Given the description of an element on the screen output the (x, y) to click on. 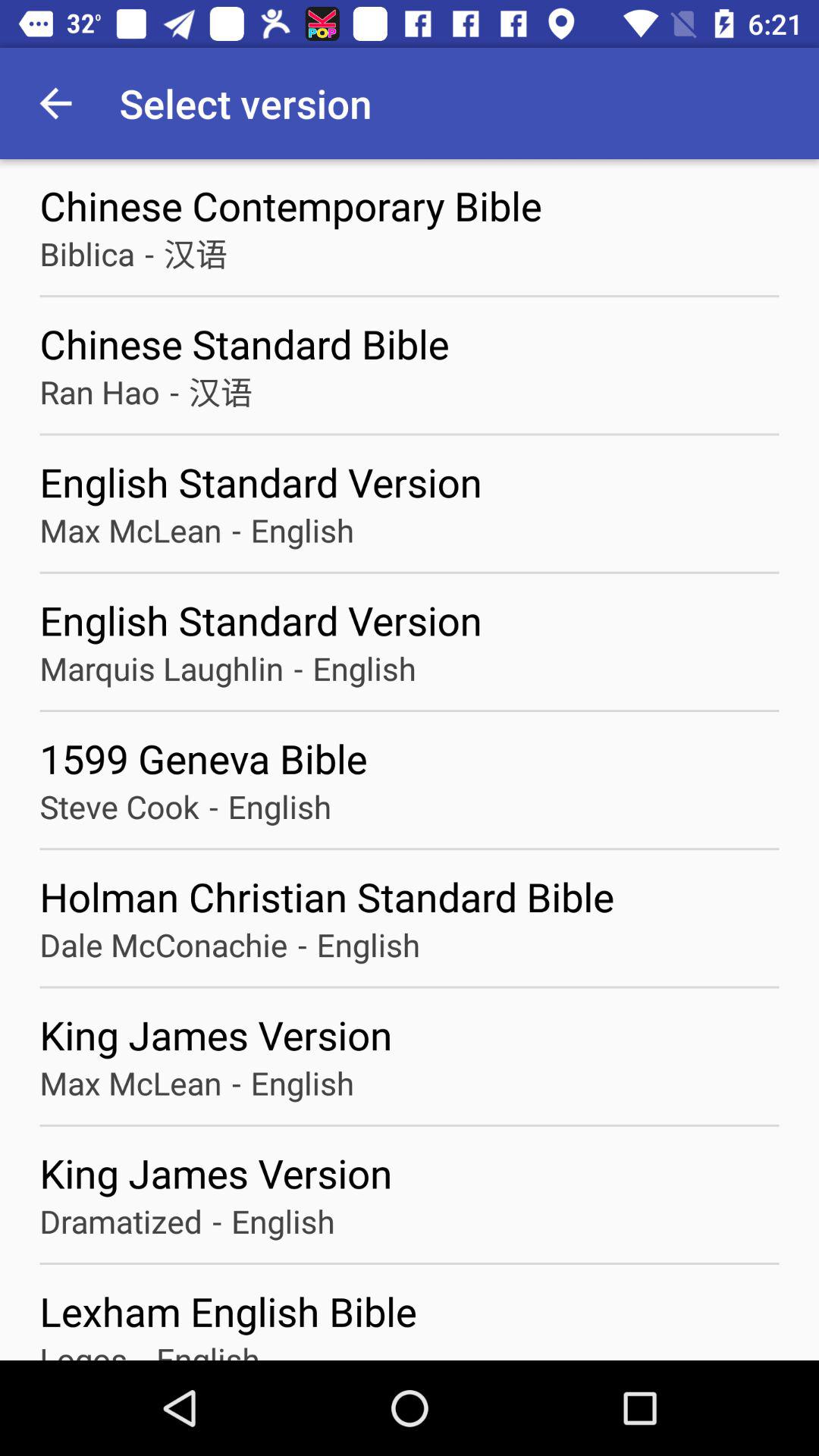
launch the item above the chinese contemporary bible icon (55, 103)
